Given the description of an element on the screen output the (x, y) to click on. 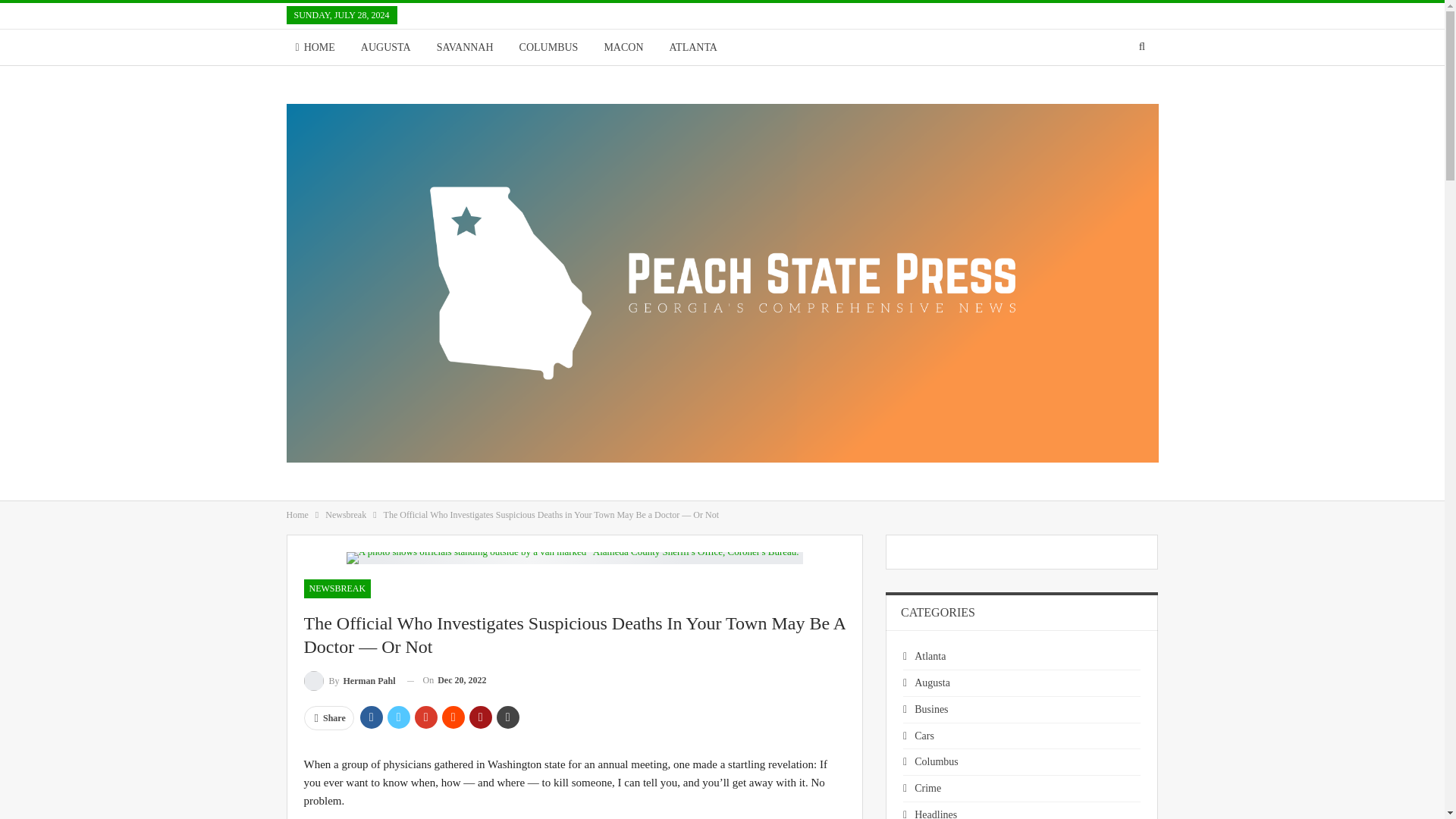
Browse Author Articles (348, 680)
COLUMBUS (549, 47)
Home (297, 514)
HOME (314, 47)
By Herman Pahl (348, 680)
AUGUSTA (386, 47)
ATLANTA (693, 47)
NEWSBREAK (336, 588)
MACON (623, 47)
Newsbreak (345, 514)
SAVANNAH (465, 47)
